Given the description of an element on the screen output the (x, y) to click on. 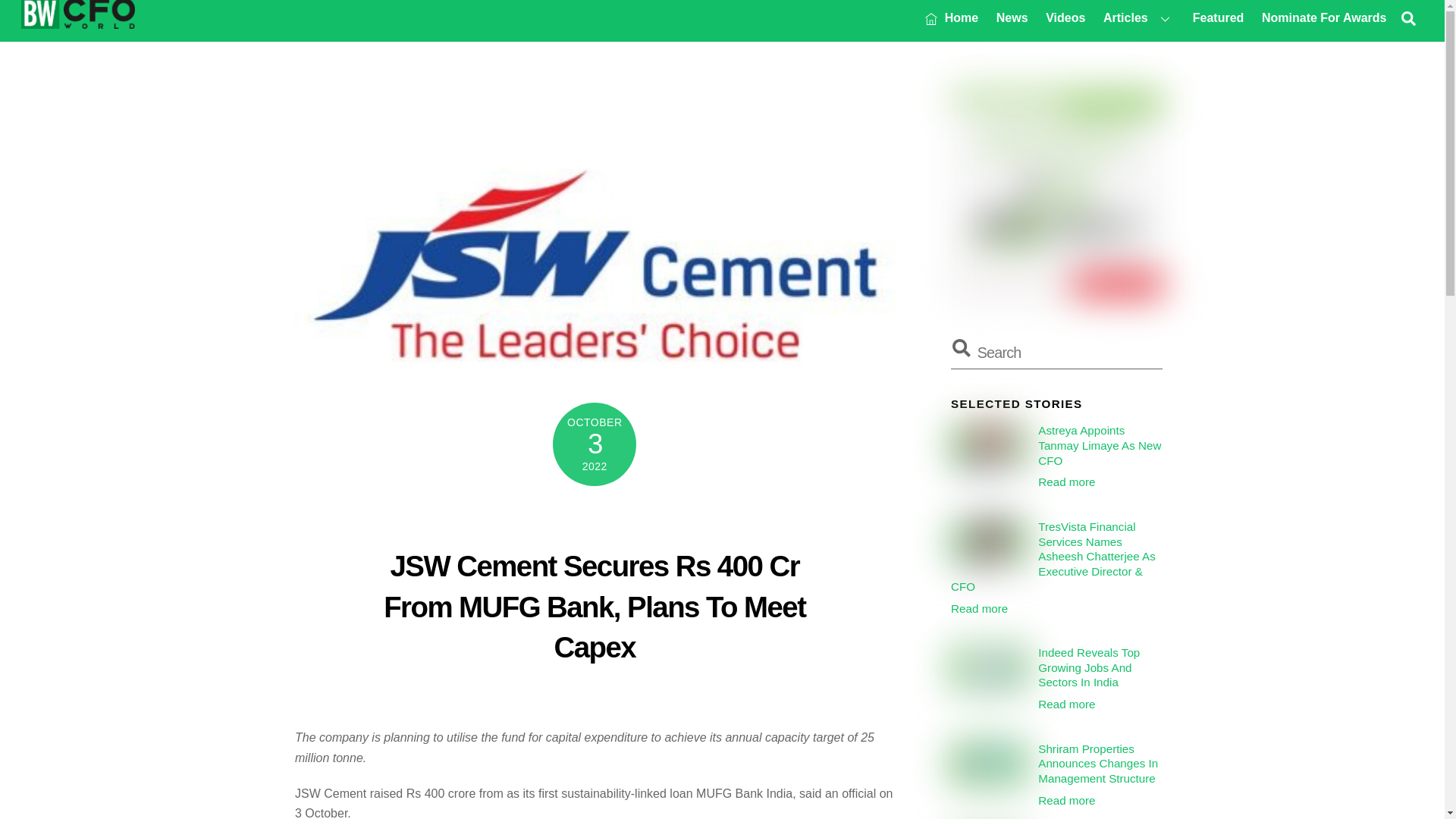
Astreya Appoints Tanmay Limaye As New CFO (1055, 445)
Nominate For Awards (1323, 17)
Jobs (988, 668)
News (1011, 17)
Asheesh Chatterjee (988, 542)
Articles (1138, 17)
Videos (1066, 17)
Read more (978, 608)
Read more (722, 18)
Home (1066, 481)
Tanmay Limaye (951, 17)
Search (988, 445)
BW CFO World (1055, 352)
